Given the description of an element on the screen output the (x, y) to click on. 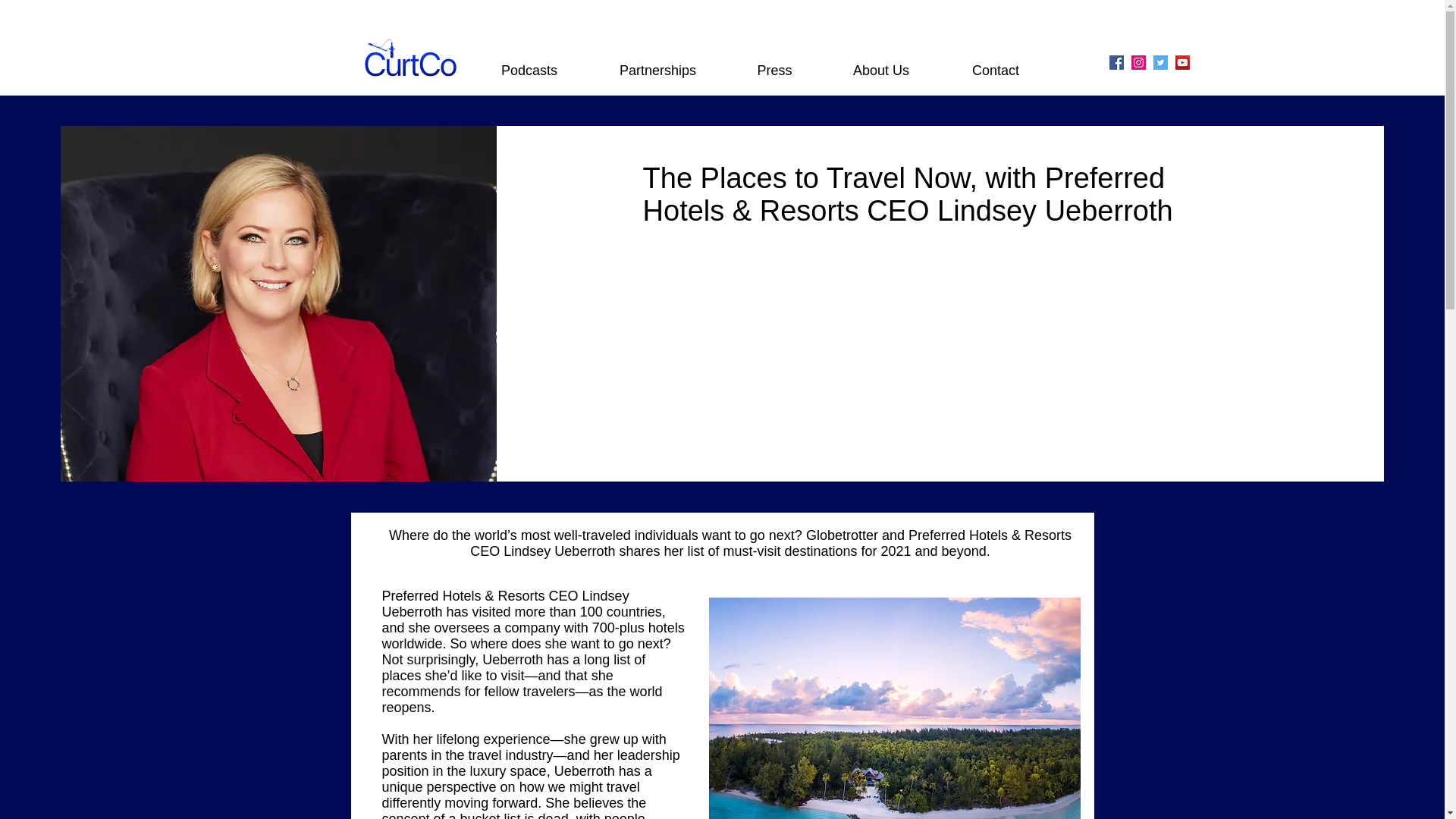
Podcasts (529, 70)
About Us (881, 70)
Partnerships (658, 70)
Contact (994, 70)
Press (775, 70)
